Given the description of an element on the screen output the (x, y) to click on. 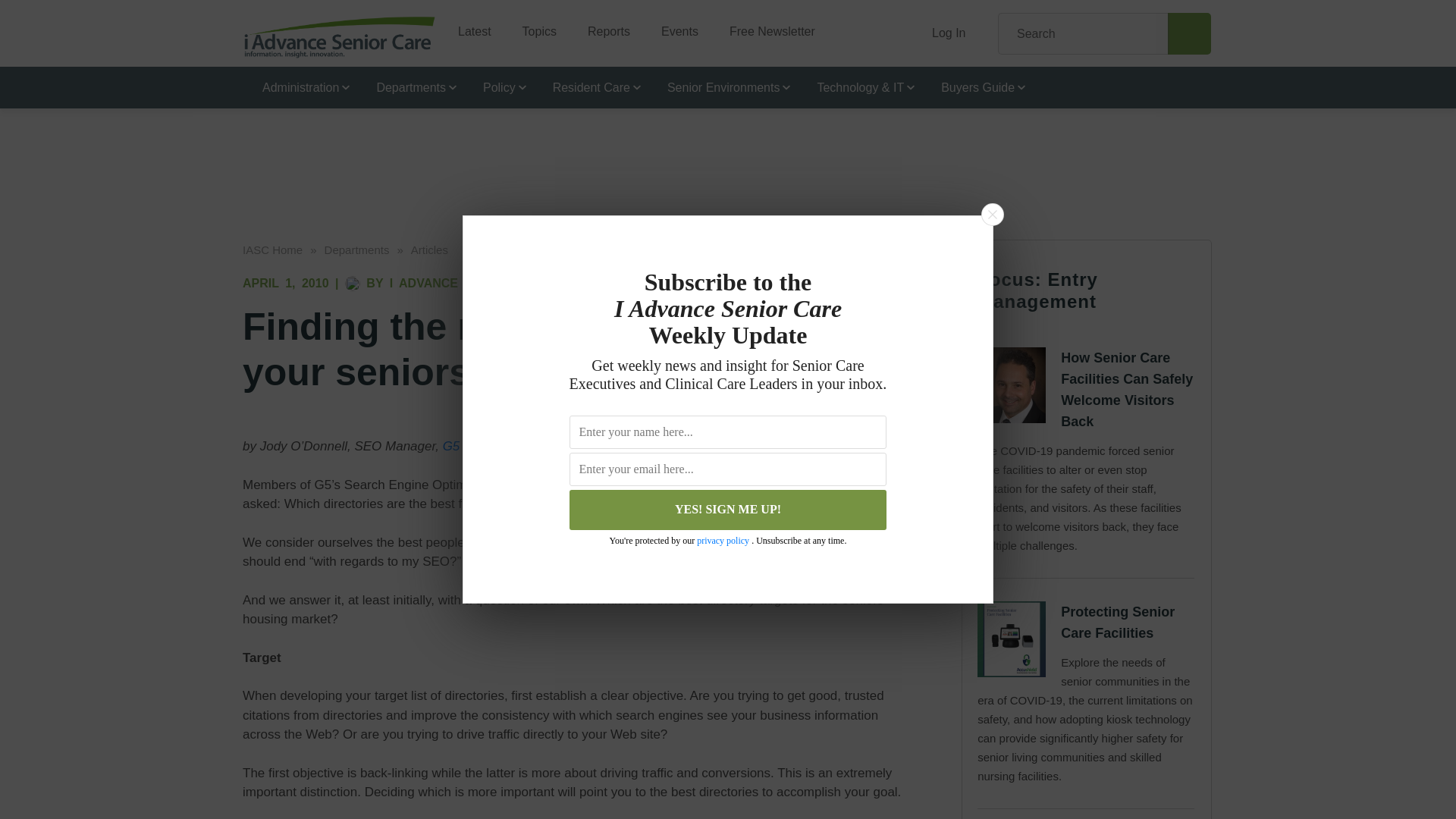
Policy (497, 87)
I Advance Senior Care (339, 36)
Resident Care (589, 87)
Departments (409, 87)
Reports (603, 26)
Topics (533, 26)
Close (992, 214)
Events (673, 26)
YES! Sign me up! (727, 509)
3rd party ad content (727, 150)
Free Newsletter (766, 26)
Administration (299, 87)
Latest (468, 26)
